Given the description of an element on the screen output the (x, y) to click on. 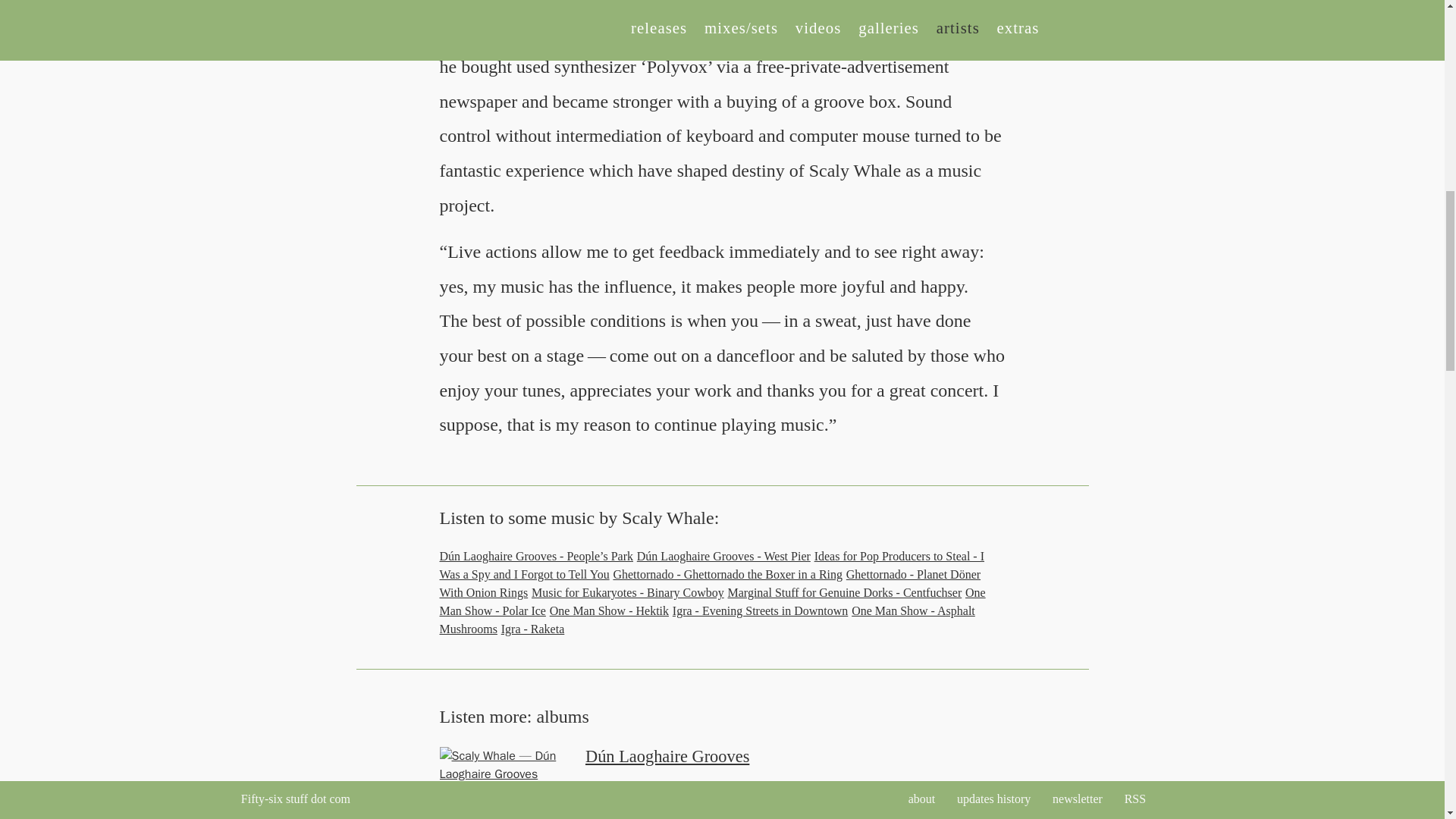
Ghettornado - Ghettornado the Boxer in a Ring (727, 574)
Igra - Evening Streets in Downtown (760, 610)
Music for Eukaryotes - Binary Cowboy (627, 592)
One Man Show - Hektik (609, 610)
One Man Show - Polar Ice (712, 601)
Igra - Raketa (532, 628)
One Man Show - Asphalt Mushrooms (707, 619)
Marginal Stuff for Genuine Dorks - Centfuchser (845, 592)
